Given the description of an element on the screen output the (x, y) to click on. 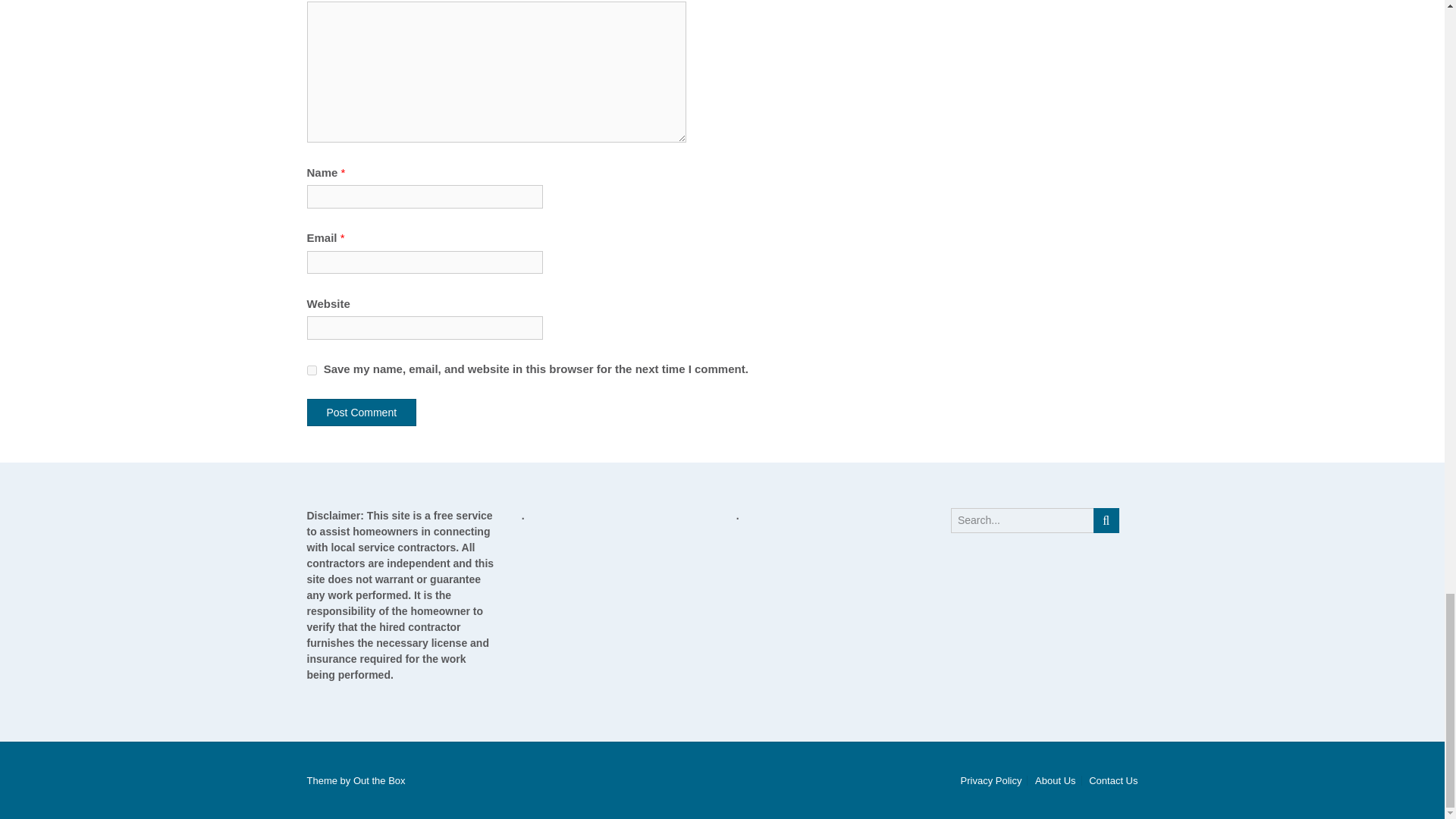
yes (310, 370)
Post Comment (360, 411)
Privacy Policy (991, 780)
Contact Us (1110, 780)
Out the Box (379, 780)
Post Comment (360, 411)
About Us (1054, 780)
Search for: (1022, 520)
